Given the description of an element on the screen output the (x, y) to click on. 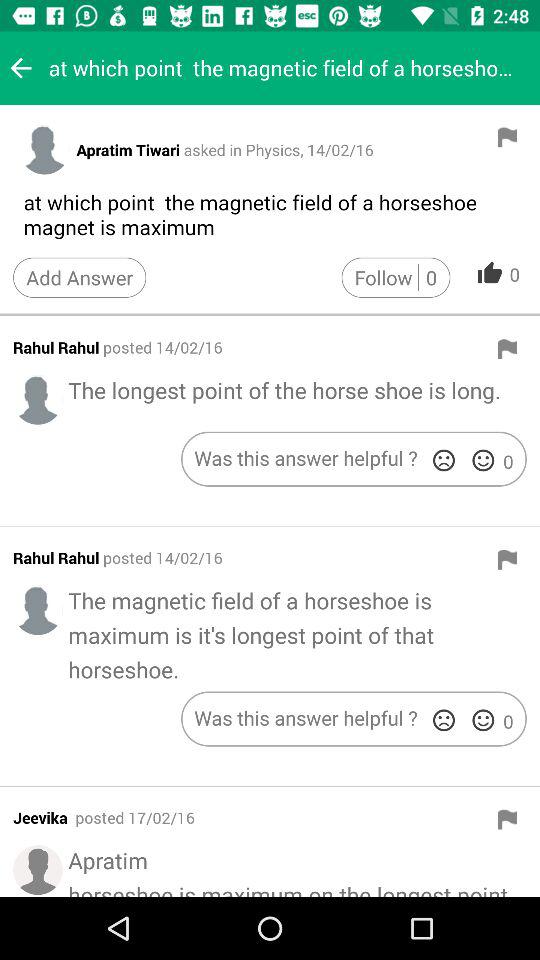
go to user profile (44, 149)
